Given the description of an element on the screen output the (x, y) to click on. 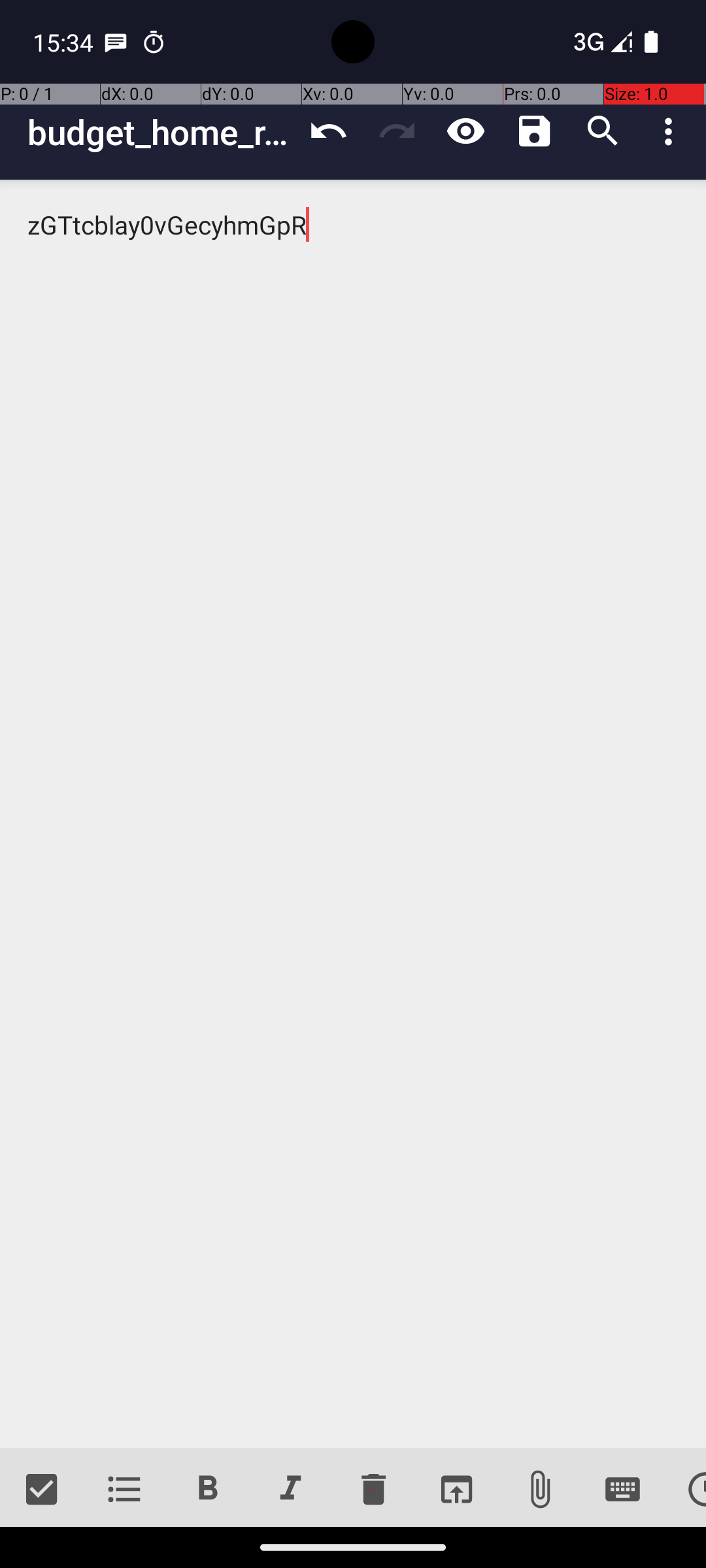
budget_home_renovation_2023_08_10 Element type: android.widget.TextView (160, 131)
zGTtcblay0vGecyhmGpR Element type: android.widget.EditText (353, 813)
